Given the description of an element on the screen output the (x, y) to click on. 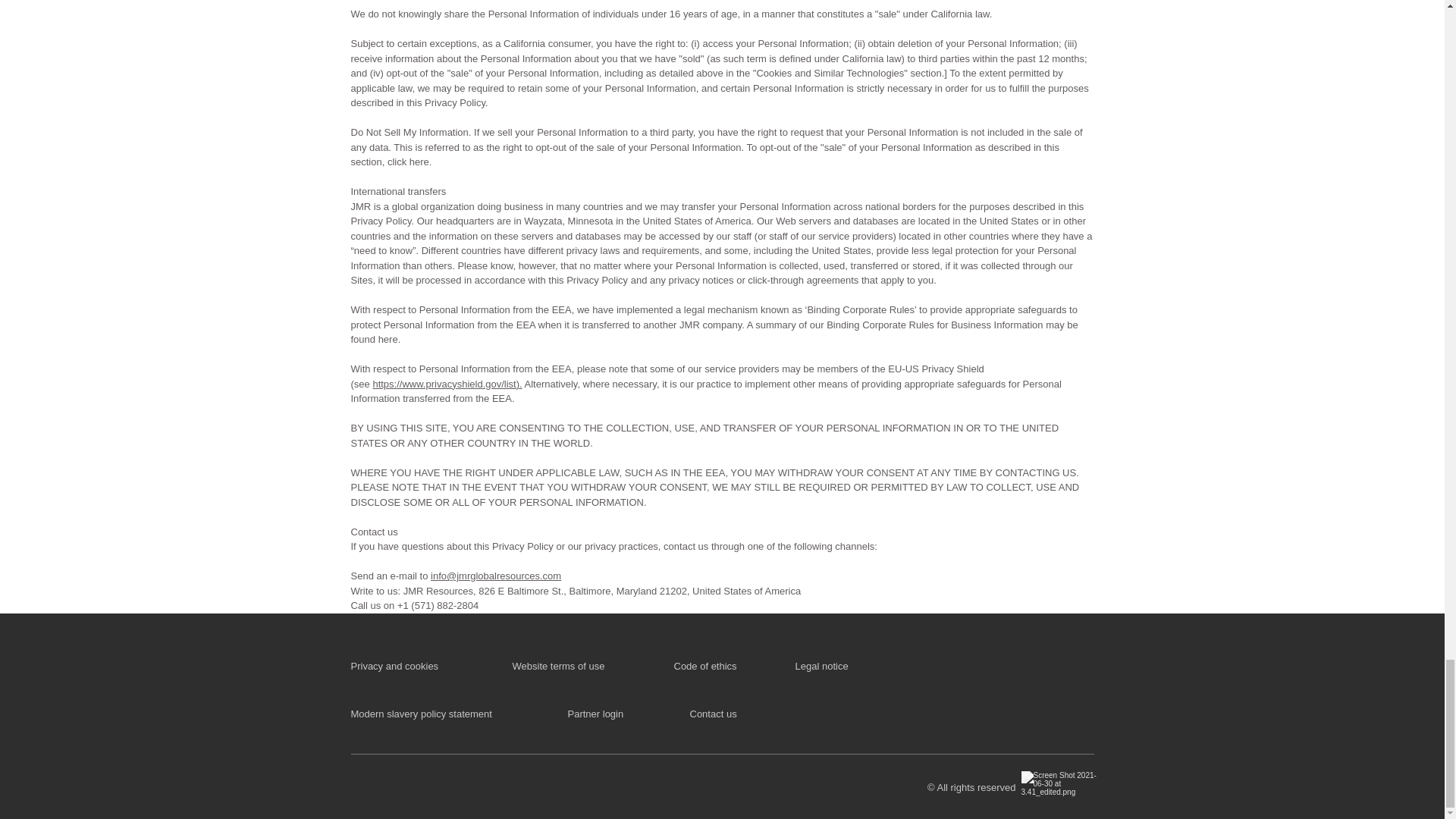
Legal notice  (822, 665)
Partner login (595, 713)
Website terms of use (558, 665)
Code of ethics (704, 665)
Contact us (713, 713)
Modern slavery policy statement (421, 713)
Privacy and cookies (394, 665)
